Given the description of an element on the screen output the (x, y) to click on. 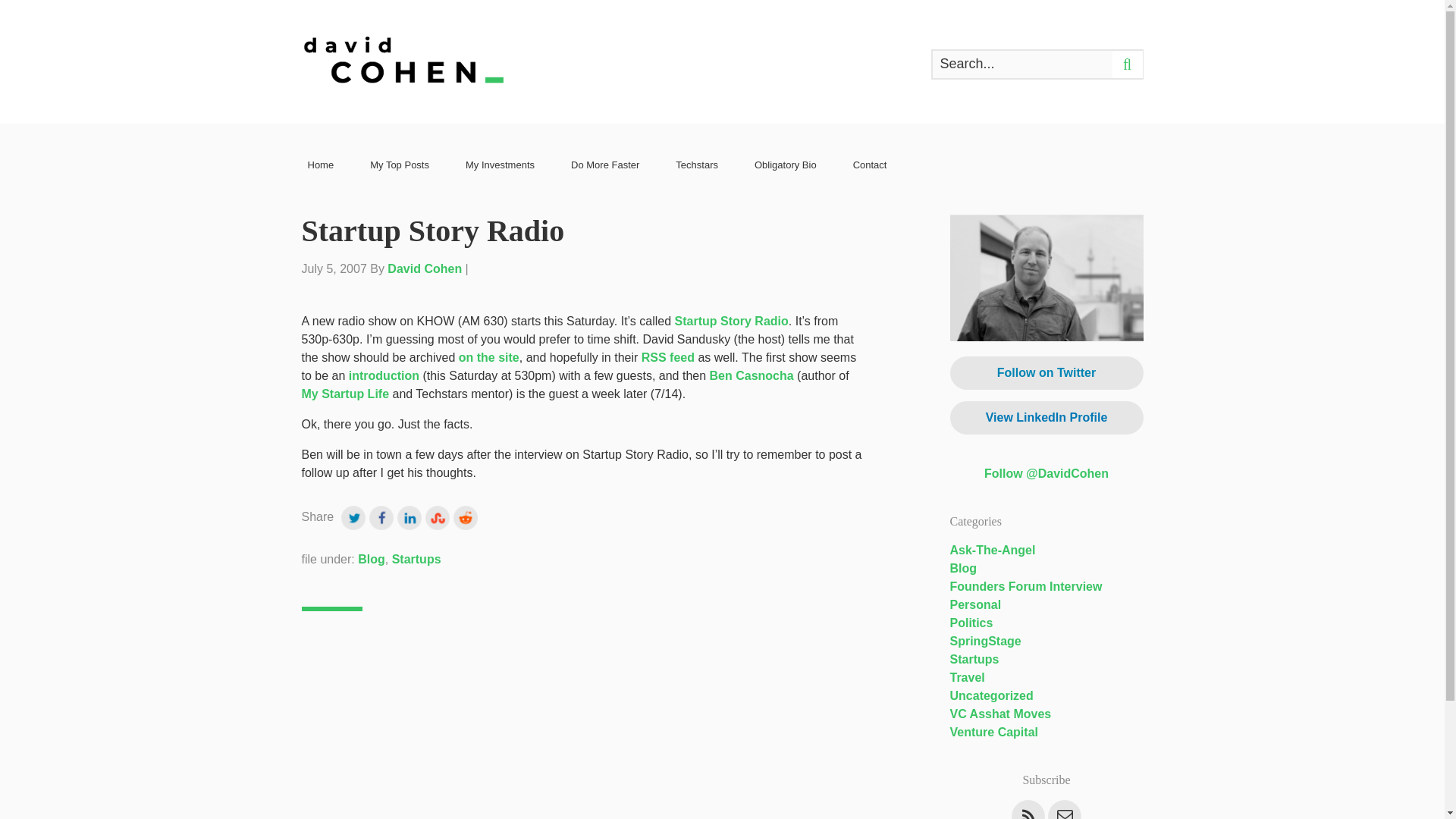
Blog (371, 558)
Do More Faster (604, 165)
VC Asshat Moves (1000, 713)
View LinkedIn Profile (1045, 417)
Techstars (696, 165)
My Top Posts (399, 165)
My Investments (500, 165)
David Cohen (424, 268)
Twitter (354, 515)
Linkedin (411, 515)
Startup Story Radio (732, 320)
Personal (975, 604)
Home (320, 165)
RSS feed (668, 357)
Founders Forum Interview (1025, 585)
